Given the description of an element on the screen output the (x, y) to click on. 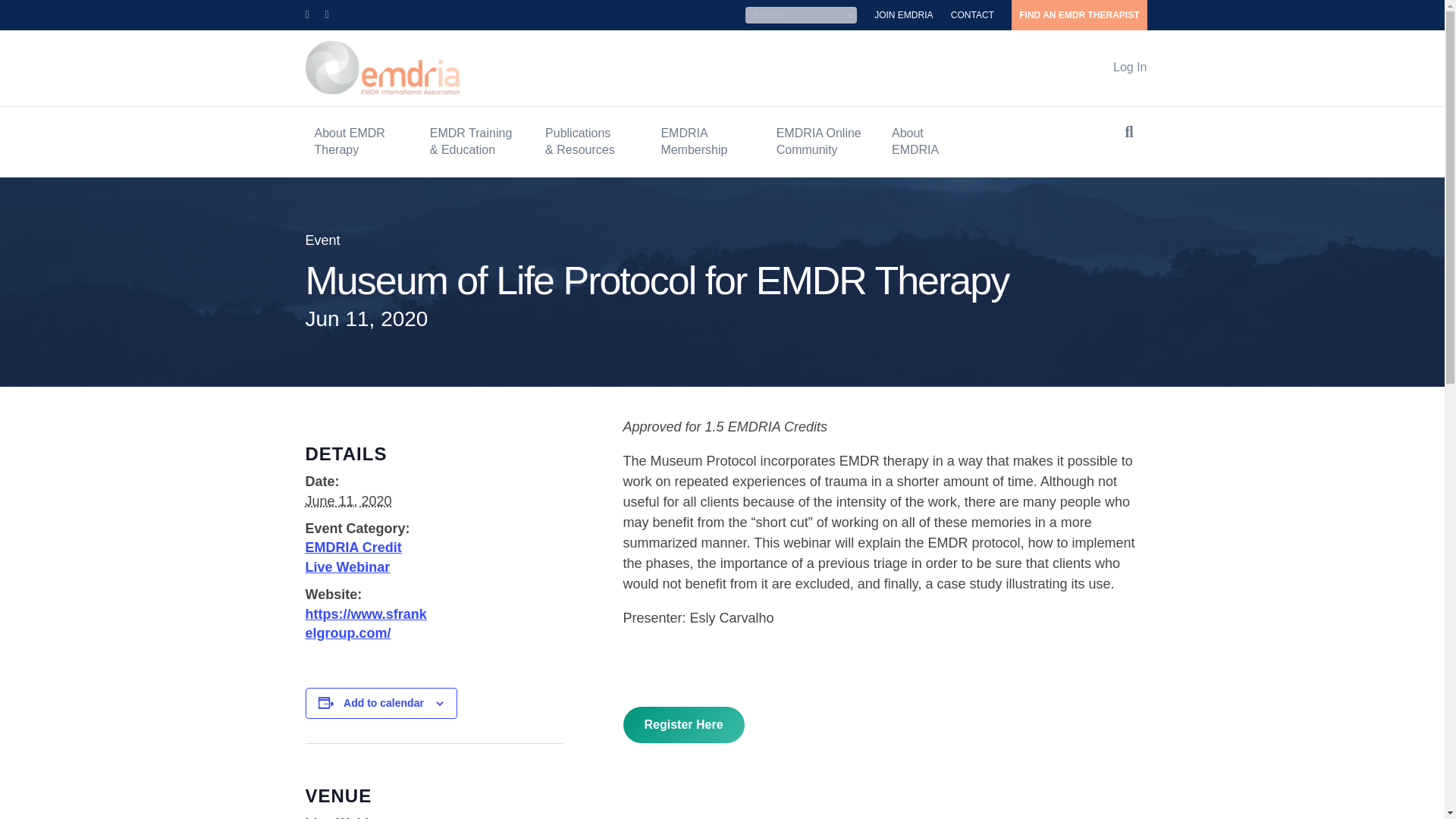
2020-06-11 (347, 500)
